Given the description of an element on the screen output the (x, y) to click on. 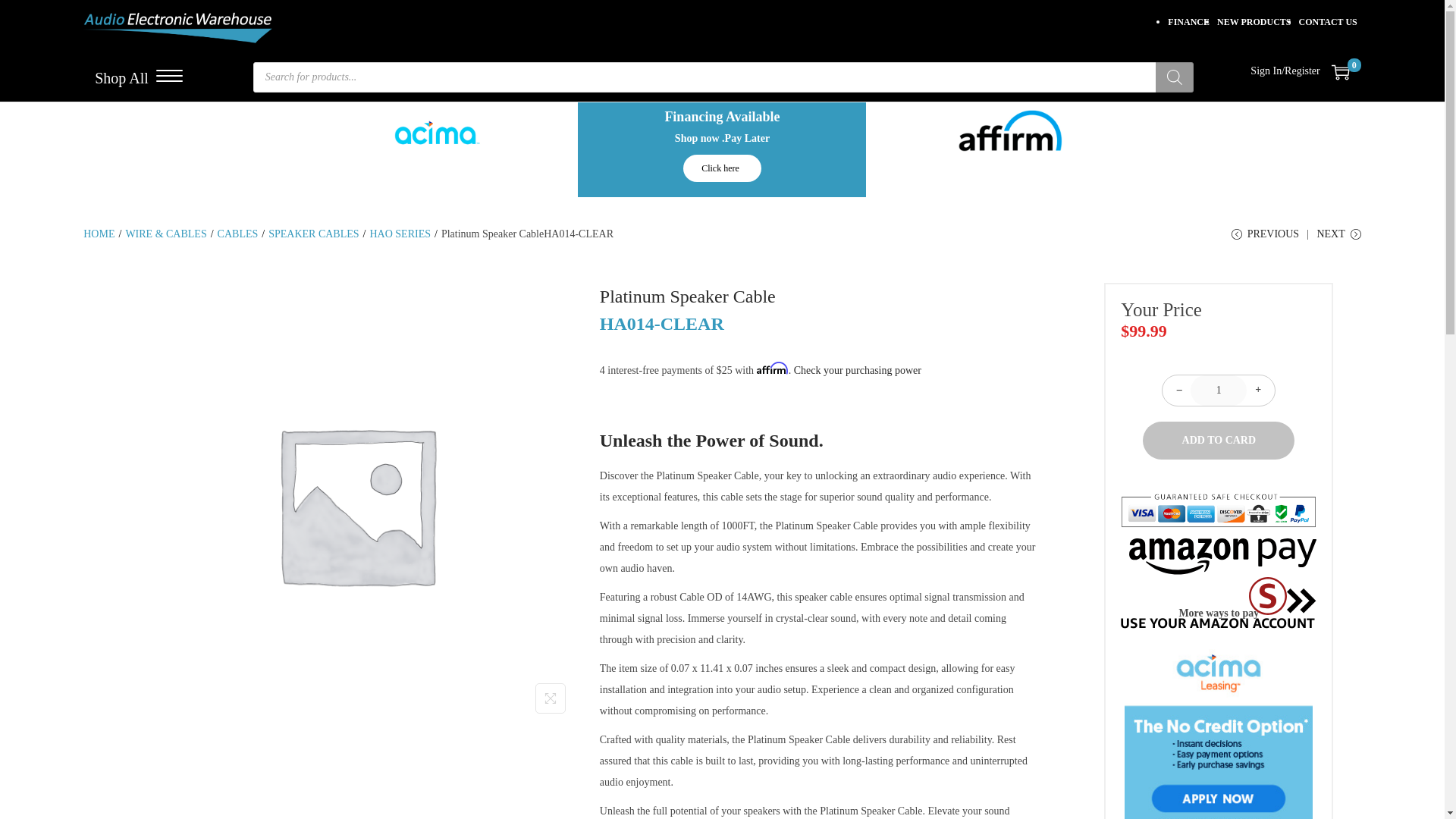
CONTACT US (1327, 21)
1 (1218, 390)
FINANCE (1188, 21)
NEW PRODUCTS (1253, 21)
